Given the description of an element on the screen output the (x, y) to click on. 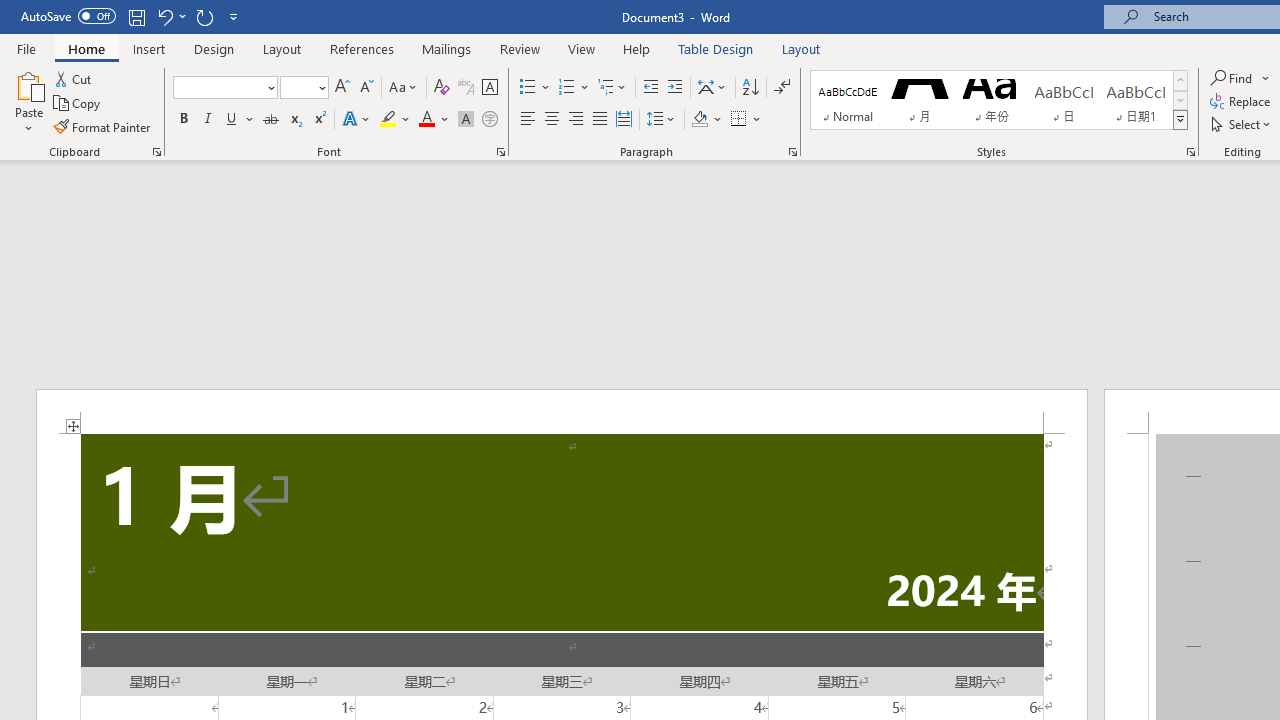
Row Down (1179, 100)
Decrease Indent (650, 87)
Sort... (750, 87)
Repeat Doc Close (204, 15)
Office Clipboard... (156, 151)
Undo Apply Quick Style (170, 15)
Show/Hide Editing Marks (781, 87)
Styles (1179, 120)
